Given the description of an element on the screen output the (x, y) to click on. 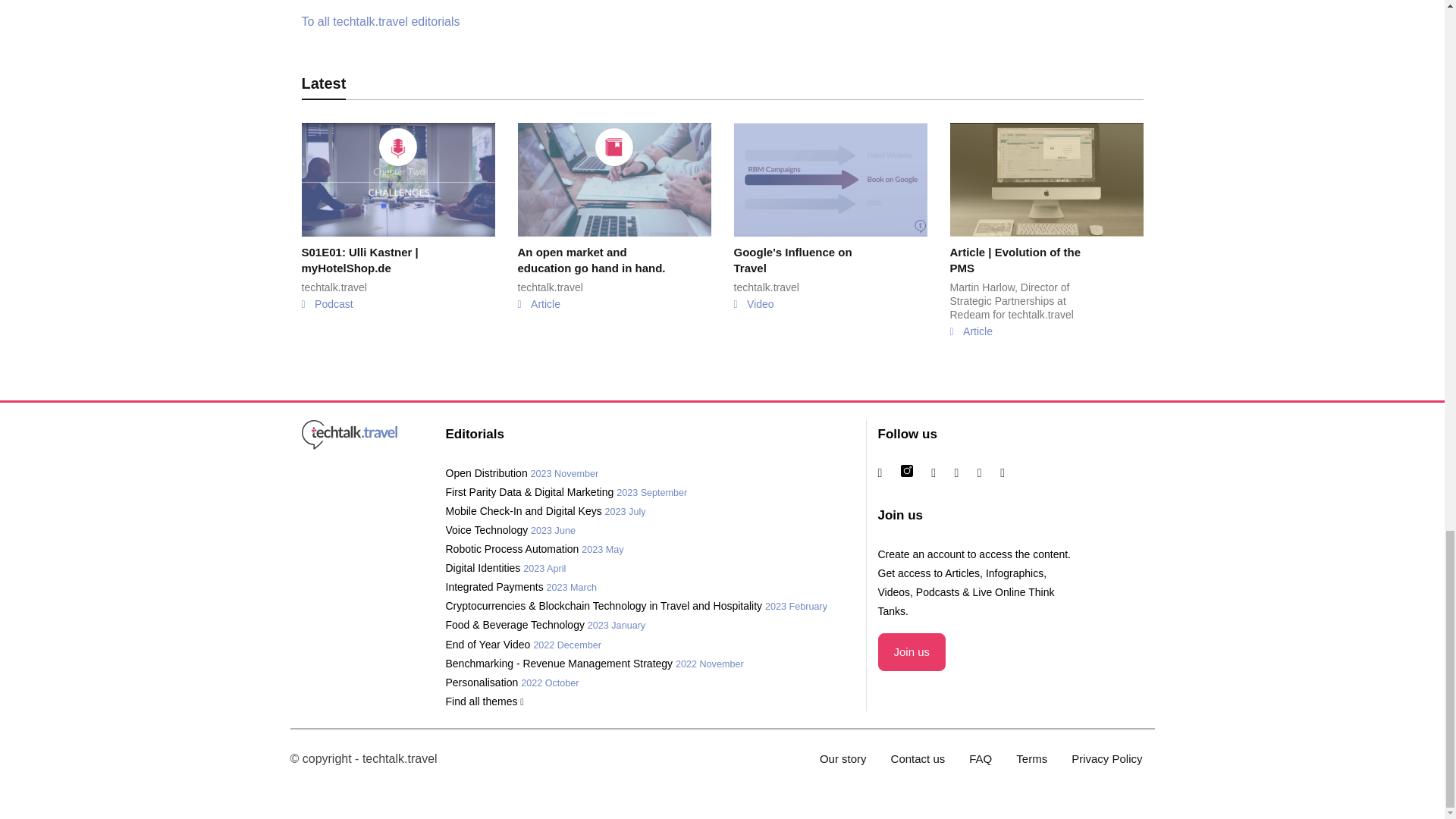
Soundcloud (1010, 472)
Our story (843, 759)
linkedin (887, 472)
facebook (964, 472)
Google's Influence on Travel (830, 242)
Contact us (918, 759)
twitter (940, 472)
instagram (914, 472)
Join us (911, 651)
An open market and education go hand in hand. (613, 242)
